Given the description of an element on the screen output the (x, y) to click on. 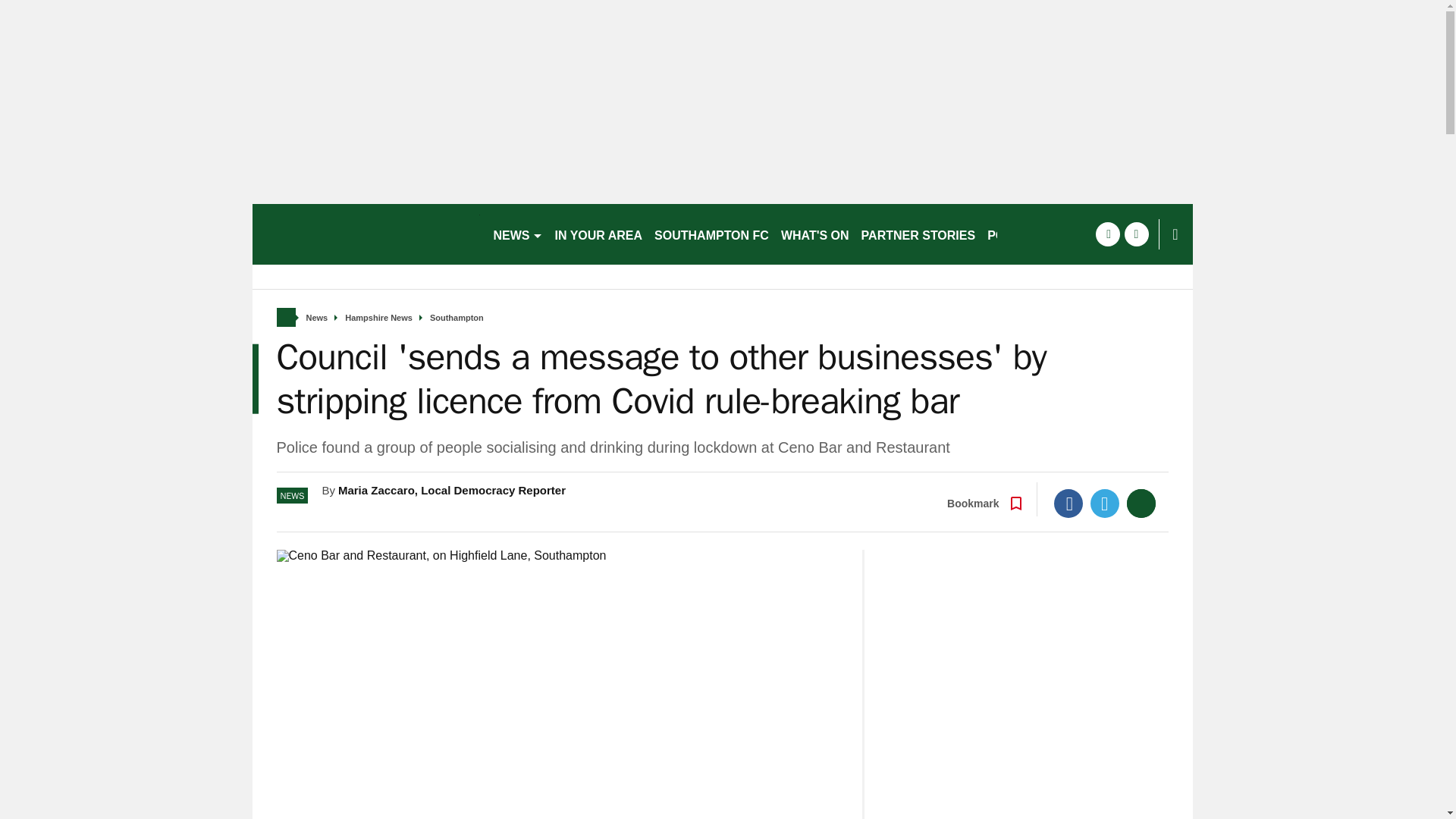
PARTNER STORIES (918, 233)
NEWS (517, 233)
hampshirelive (365, 233)
twitter (1136, 233)
Facebook (1068, 502)
WHAT'S ON (815, 233)
PORTSMOUTH FC (1040, 233)
Twitter (1104, 502)
facebook (1106, 233)
IN YOUR AREA (598, 233)
